Given the description of an element on the screen output the (x, y) to click on. 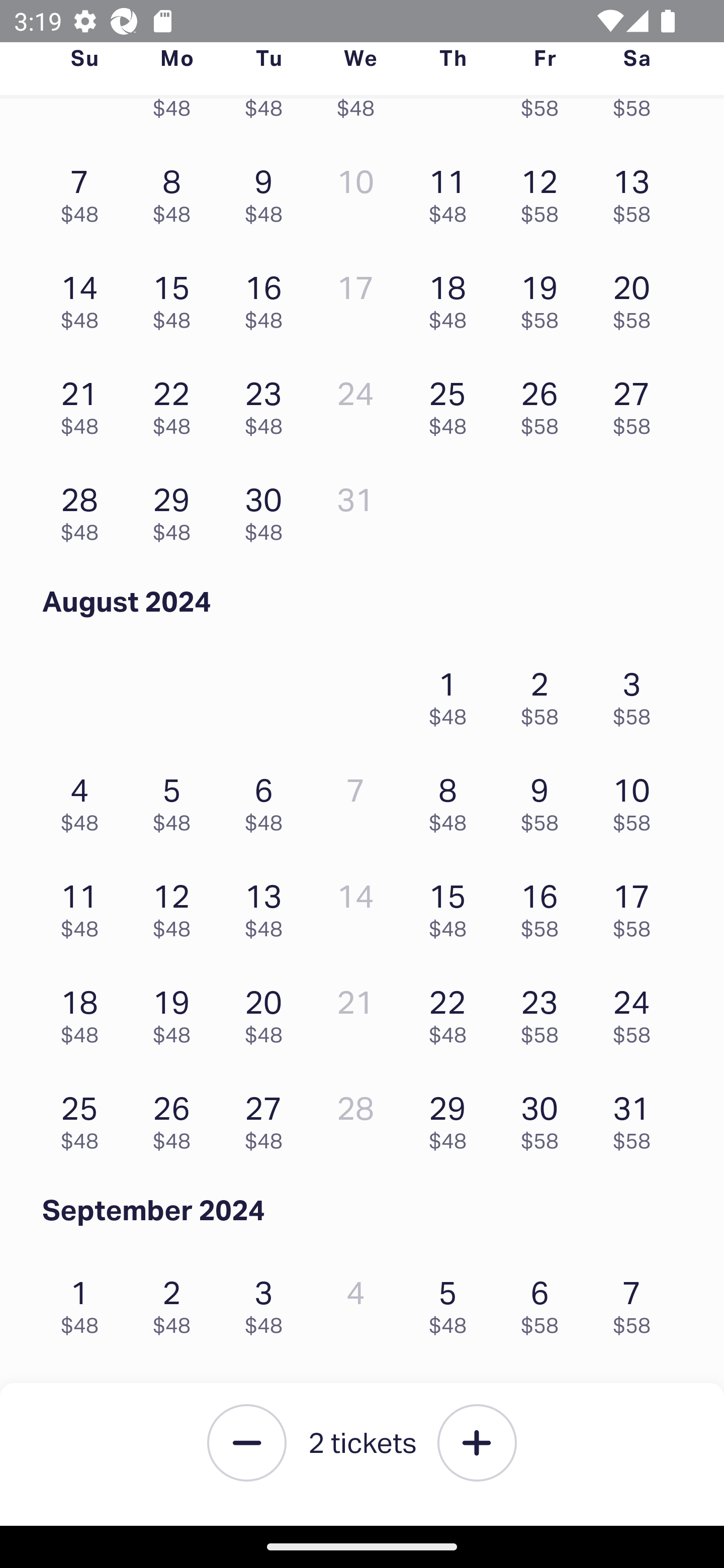
7 $48 (84, 191)
8 $48 (176, 191)
9 $48 (268, 191)
11 $48 (452, 191)
12 $58 (544, 191)
13 $58 (636, 191)
14 $48 (84, 296)
15 $48 (176, 296)
16 $48 (268, 296)
18 $48 (452, 296)
19 $58 (544, 296)
20 $58 (636, 296)
21 $48 (84, 403)
22 $48 (176, 403)
23 $48 (268, 403)
25 $48 (452, 403)
26 $58 (544, 403)
27 $58 (636, 403)
28 $48 (84, 508)
29 $48 (176, 508)
30 $48 (268, 508)
1 $48 (452, 693)
2 $58 (544, 693)
3 $58 (636, 693)
4 $48 (84, 800)
5 $48 (176, 800)
6 $48 (268, 800)
8 $48 (452, 800)
9 $58 (544, 800)
10 $58 (636, 800)
11 $48 (84, 905)
12 $48 (176, 905)
13 $48 (268, 905)
15 $48 (452, 905)
16 $58 (544, 905)
17 $58 (636, 905)
18 $48 (84, 1011)
19 $48 (176, 1011)
20 $48 (268, 1011)
22 $48 (452, 1011)
23 $58 (544, 1011)
24 $58 (636, 1011)
25 $48 (84, 1117)
26 $48 (176, 1117)
27 $48 (268, 1117)
29 $48 (452, 1117)
30 $58 (544, 1117)
31 $58 (636, 1117)
1 $48 (84, 1301)
2 $48 (176, 1301)
3 $48 (268, 1301)
5 $48 (452, 1301)
6 $58 (544, 1301)
7 $58 (636, 1301)
